Given the description of an element on the screen output the (x, y) to click on. 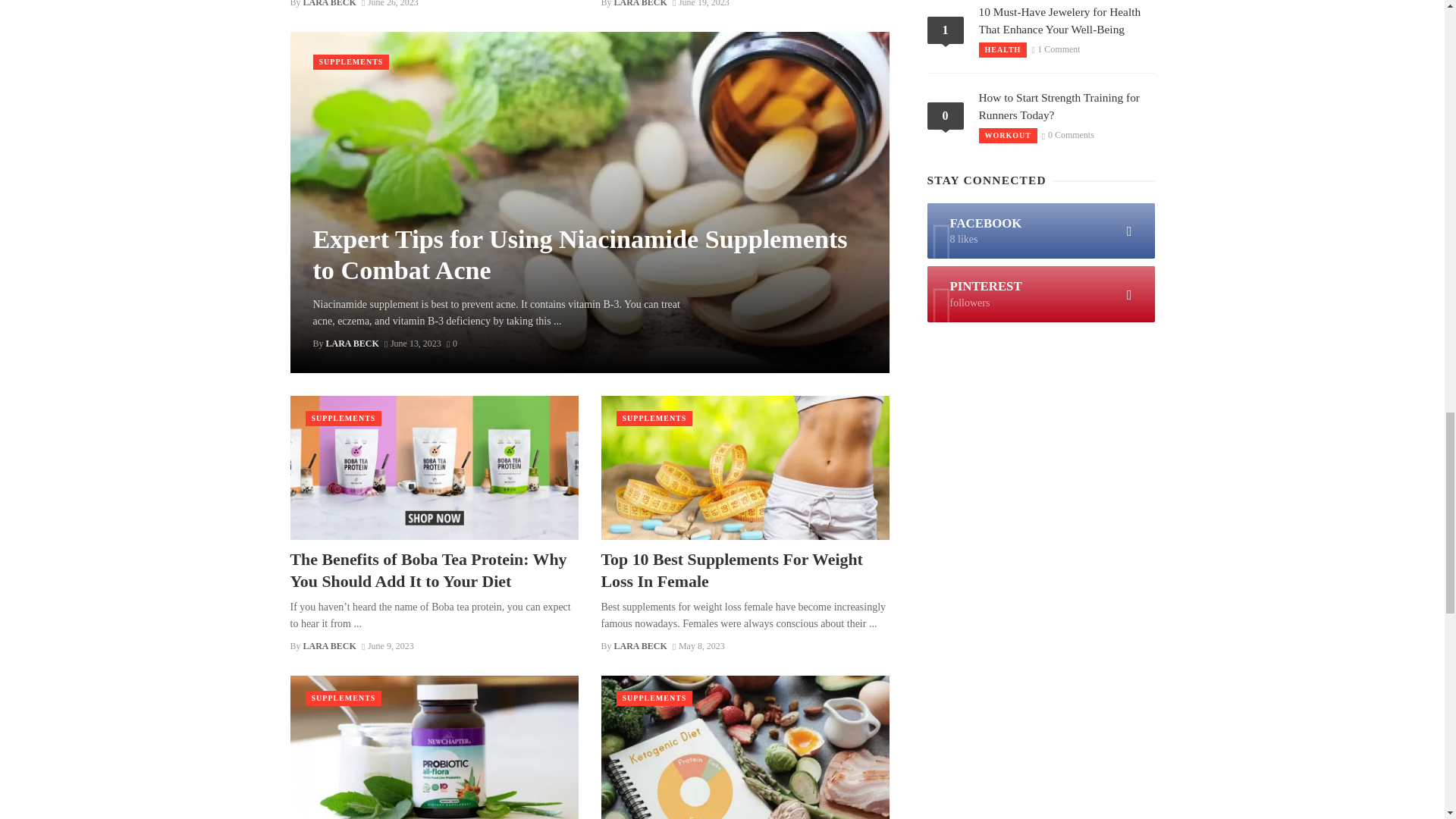
June 9, 2023 at 6:58 pm (387, 645)
June 13, 2023 at 10:44 am (412, 343)
June 26, 2023 at 8:25 pm (390, 3)
0 Comments (451, 343)
June 19, 2023 at 7:52 pm (700, 3)
